Given the description of an element on the screen output the (x, y) to click on. 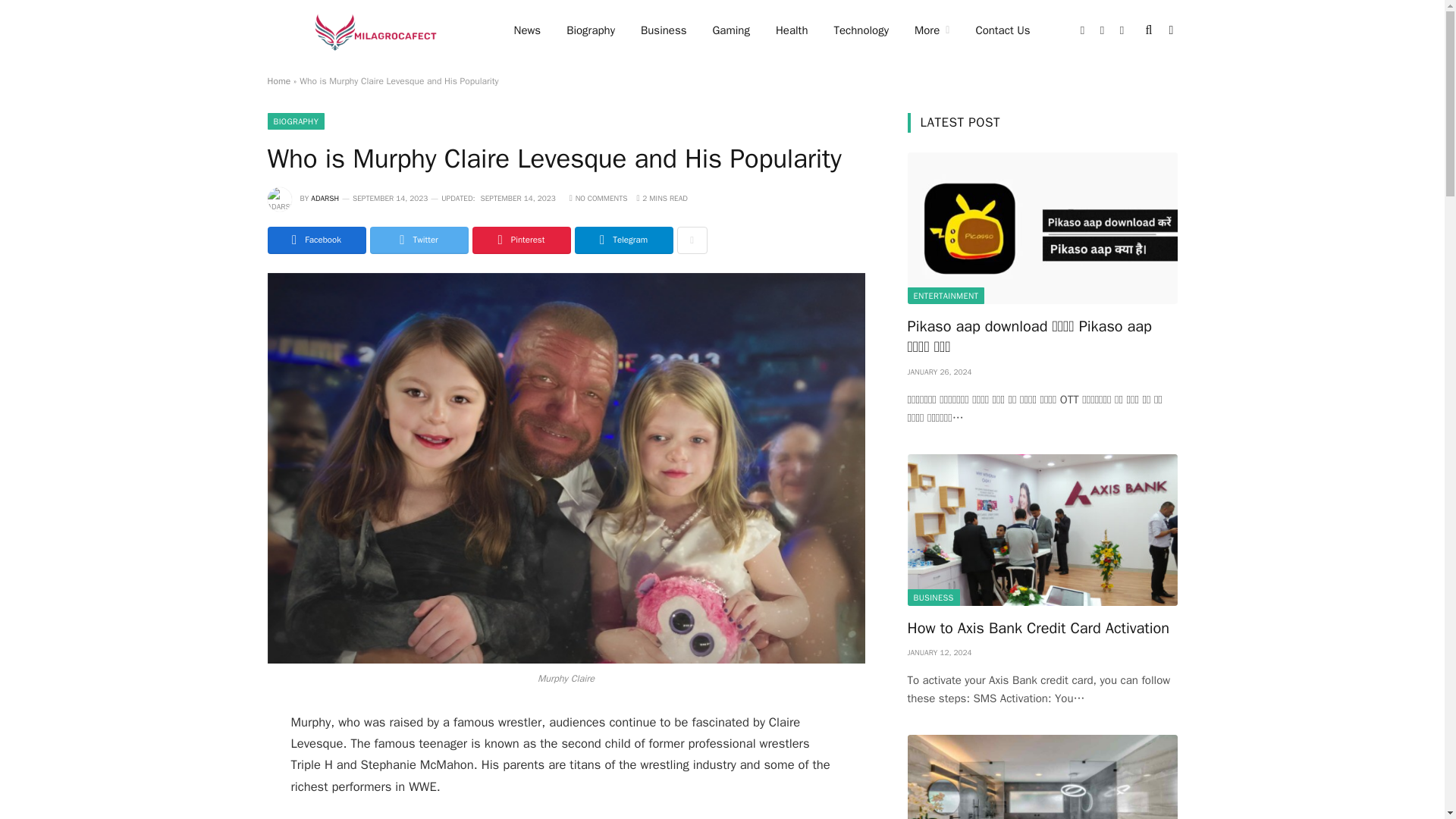
Instagram (1122, 30)
News (526, 30)
Facebook (1083, 30)
Share on Facebook (315, 239)
Health (791, 30)
Switch to Dark Design - easier on eyes. (1169, 30)
Technology (861, 30)
KlickSurge (370, 30)
Gaming (729, 30)
More (931, 30)
Posts by Adarsh (325, 198)
Business (663, 30)
Search (1149, 30)
Biography (590, 30)
Contact Us (1002, 30)
